Given the description of an element on the screen output the (x, y) to click on. 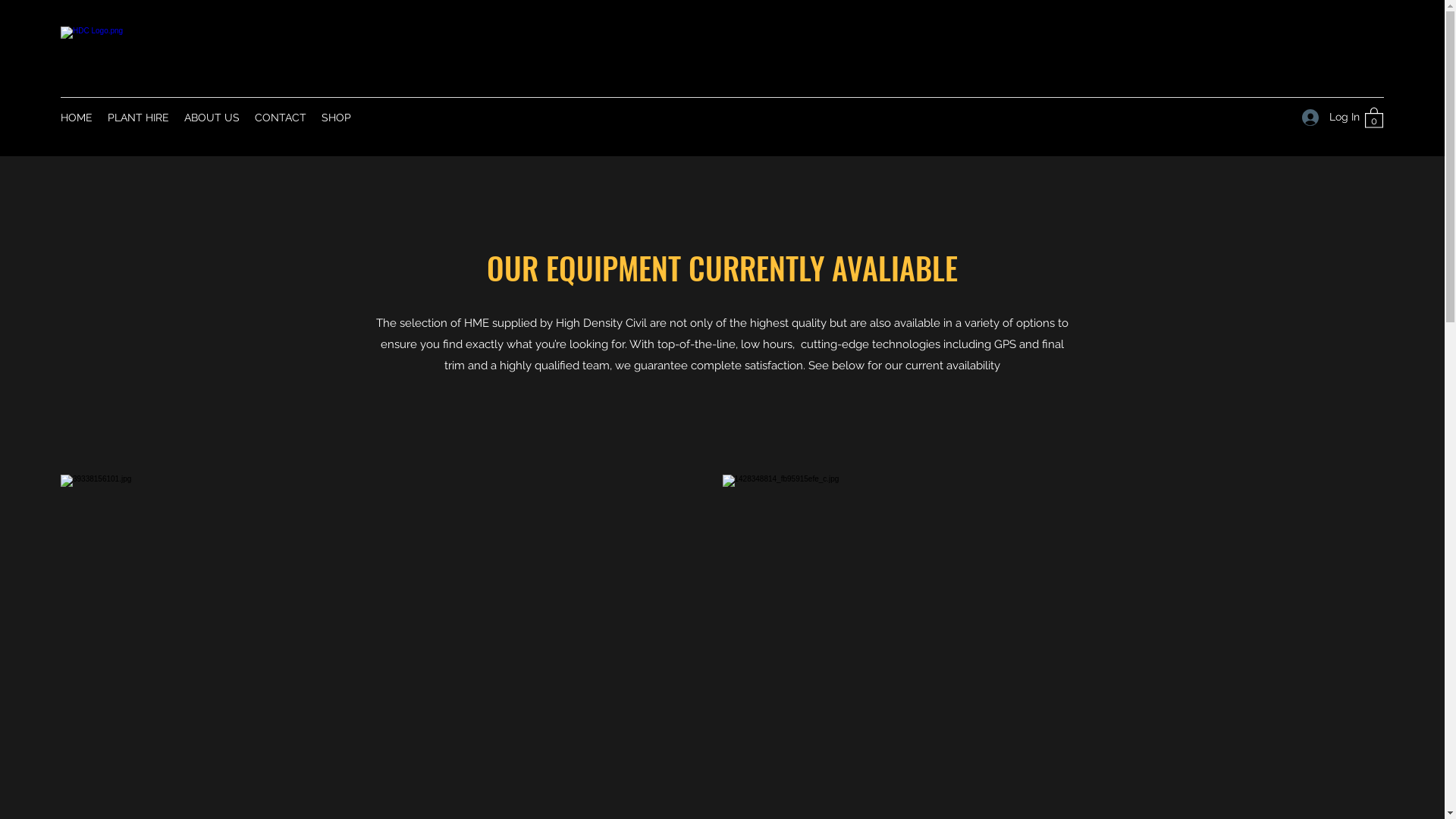
Log In Element type: text (1325, 117)
ABOUT US Element type: text (211, 117)
0 Element type: text (1374, 117)
CONTACT Element type: text (280, 117)
SHOP Element type: text (335, 117)
HOME Element type: text (76, 117)
PLANT HIRE Element type: text (138, 117)
